Given the description of an element on the screen output the (x, y) to click on. 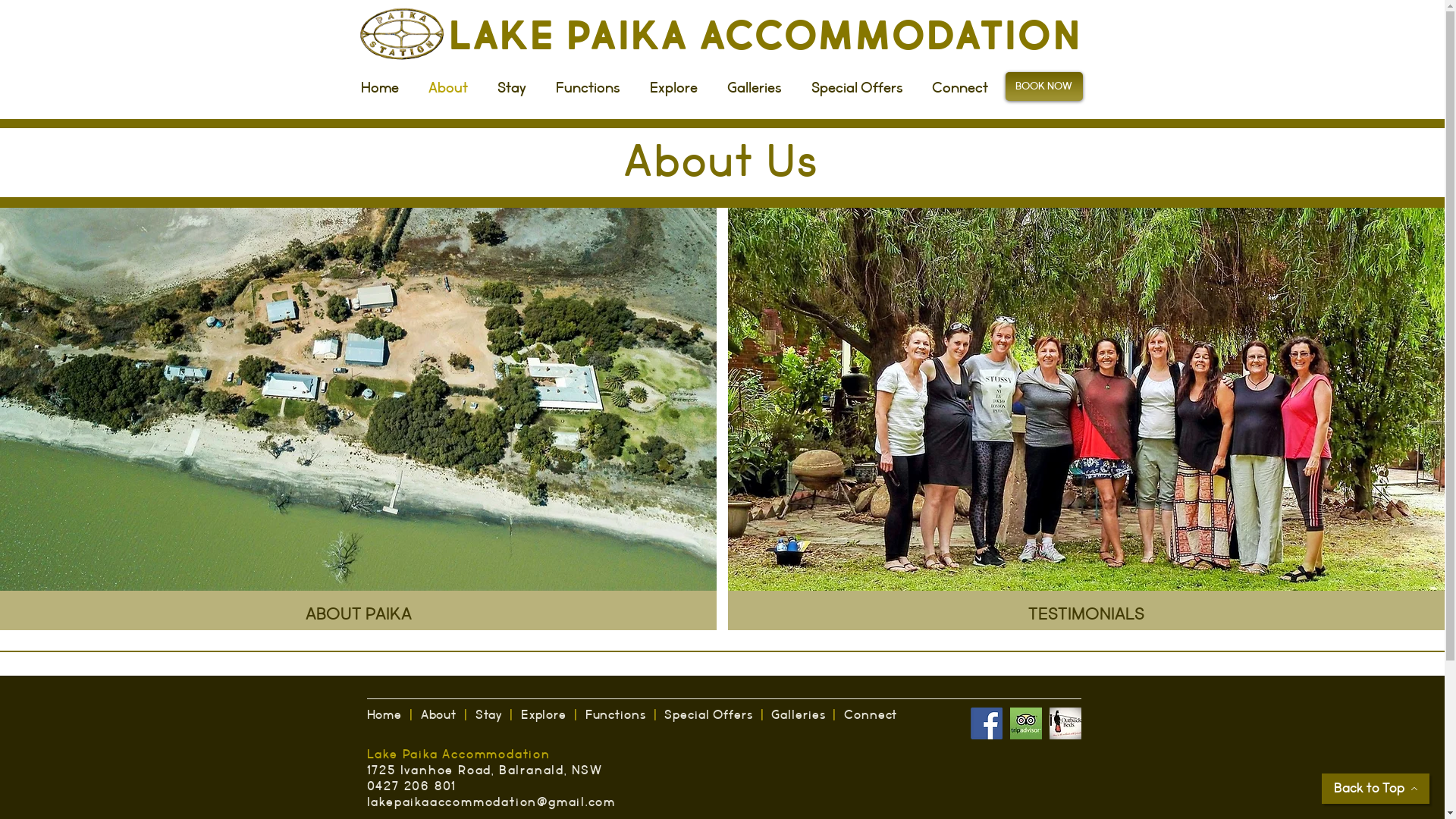
About Element type: text (451, 86)
Stay Element type: text (514, 86)
Stay  Element type: text (490, 715)
About Element type: text (438, 715)
Functions  Element type: text (617, 715)
Home Element type: text (384, 715)
Special Offers Element type: text (708, 715)
Connect Element type: text (870, 715)
Special Offers Element type: text (859, 86)
ABOUT PAIKA Element type: text (358, 418)
Galleries Element type: text (757, 86)
Explore Element type: text (676, 86)
TESTIMONIALS Element type: text (1086, 418)
Functions Element type: text (591, 86)
Home Element type: text (382, 86)
Back to Top Element type: text (1375, 788)
Galleries Element type: text (798, 715)
Explore Element type: text (543, 715)
Connect Element type: text (962, 86)
lakepaikaaccommodation@gmail.com Element type: text (491, 802)
BOOK NOW Element type: text (1043, 86)
